Given the description of an element on the screen output the (x, y) to click on. 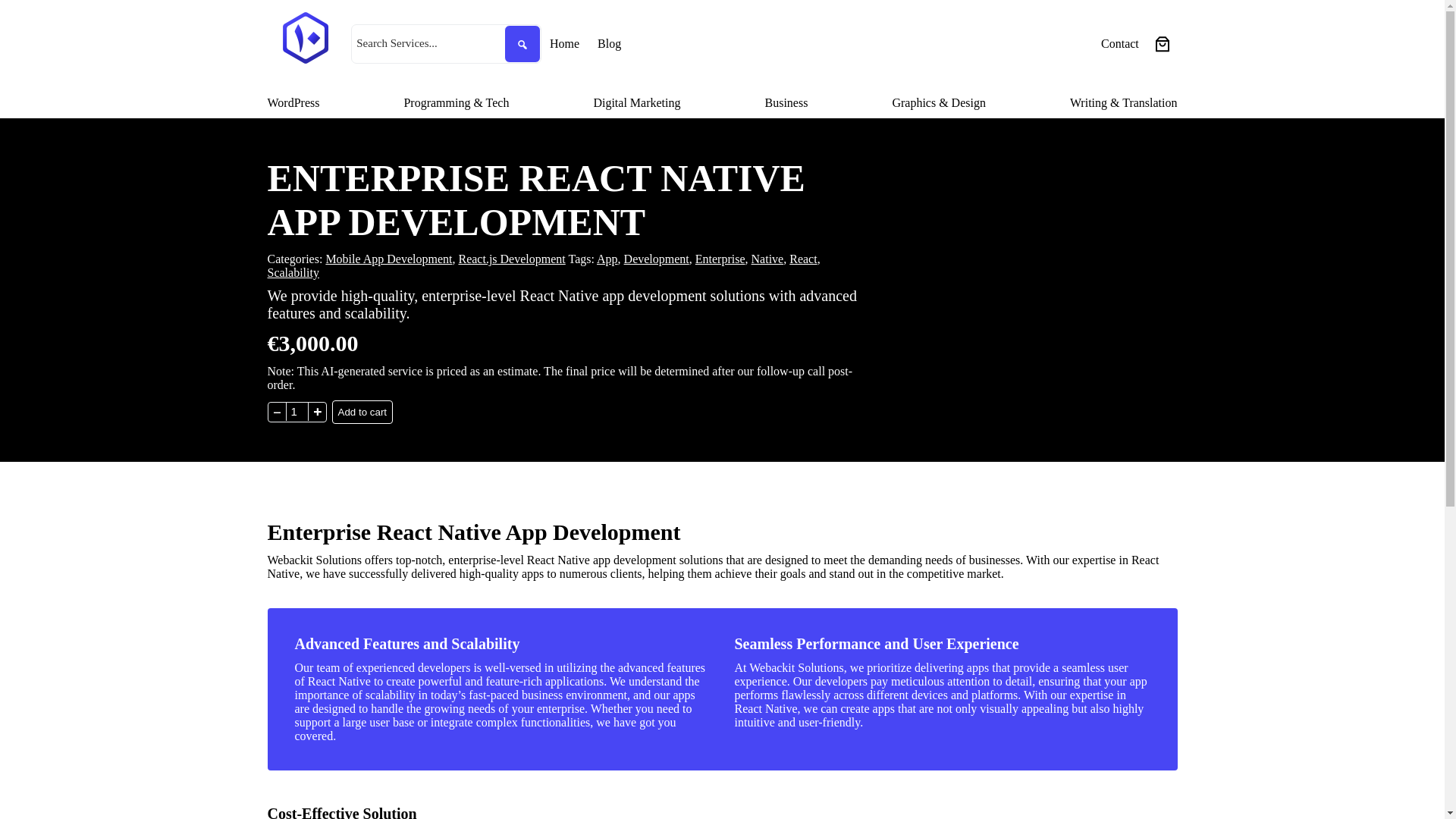
Business (786, 103)
Contact (1119, 44)
Mobile App Development (387, 258)
Scalability (292, 272)
Native (767, 258)
Blog (608, 44)
WordPress (292, 103)
Enterprise (720, 258)
Development (656, 258)
React.js Development (511, 258)
Digital Marketing (635, 103)
App (606, 258)
1 (296, 411)
React (802, 258)
Add to cart (362, 412)
